Given the description of an element on the screen output the (x, y) to click on. 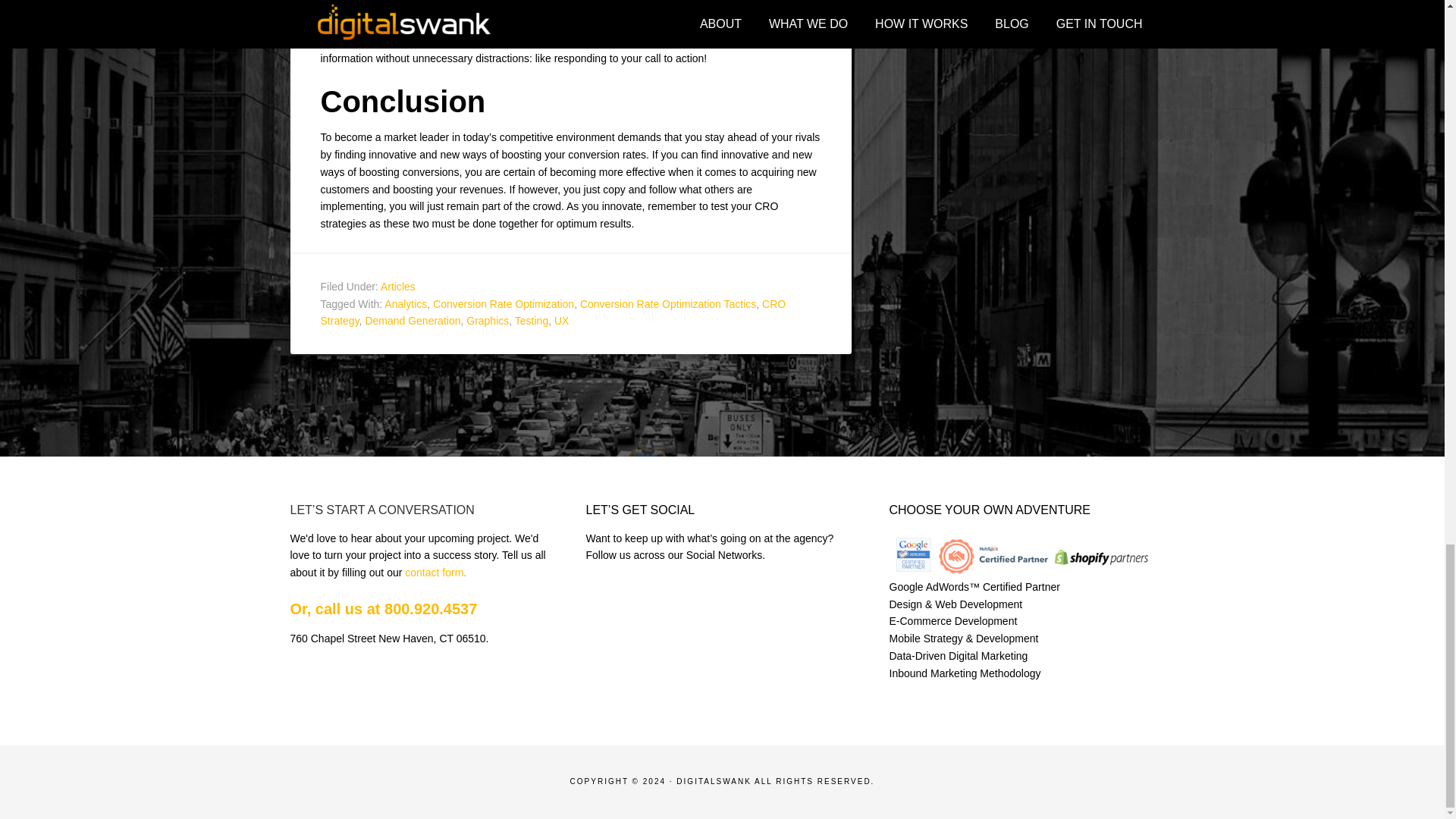
Analytics (405, 304)
Conversion Rate Optimization Tactics (667, 304)
UX (561, 320)
Testing (531, 320)
contact form (433, 572)
Articles (397, 286)
Graphics (486, 320)
CRO Strategy (553, 312)
Demand Generation (412, 320)
Conversion Rate Optimization (502, 304)
